Given the description of an element on the screen output the (x, y) to click on. 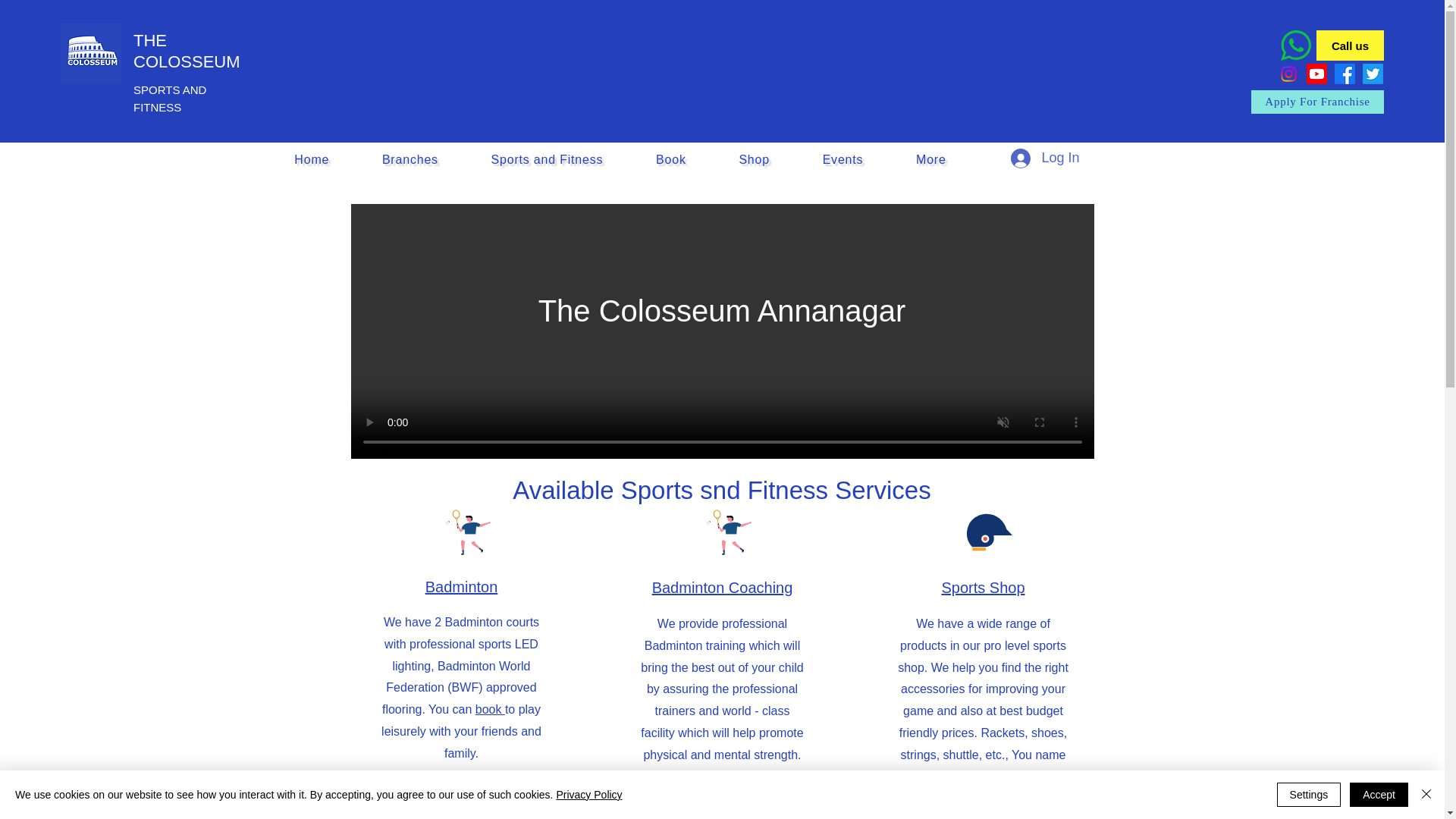
Shop (619, 159)
Badminton (754, 159)
Log In (461, 586)
Book (1044, 157)
Apply For Franchise (669, 159)
Sports Shop (1317, 101)
Order Now (982, 587)
book (1030, 776)
Events (490, 708)
